Given the description of an element on the screen output the (x, y) to click on. 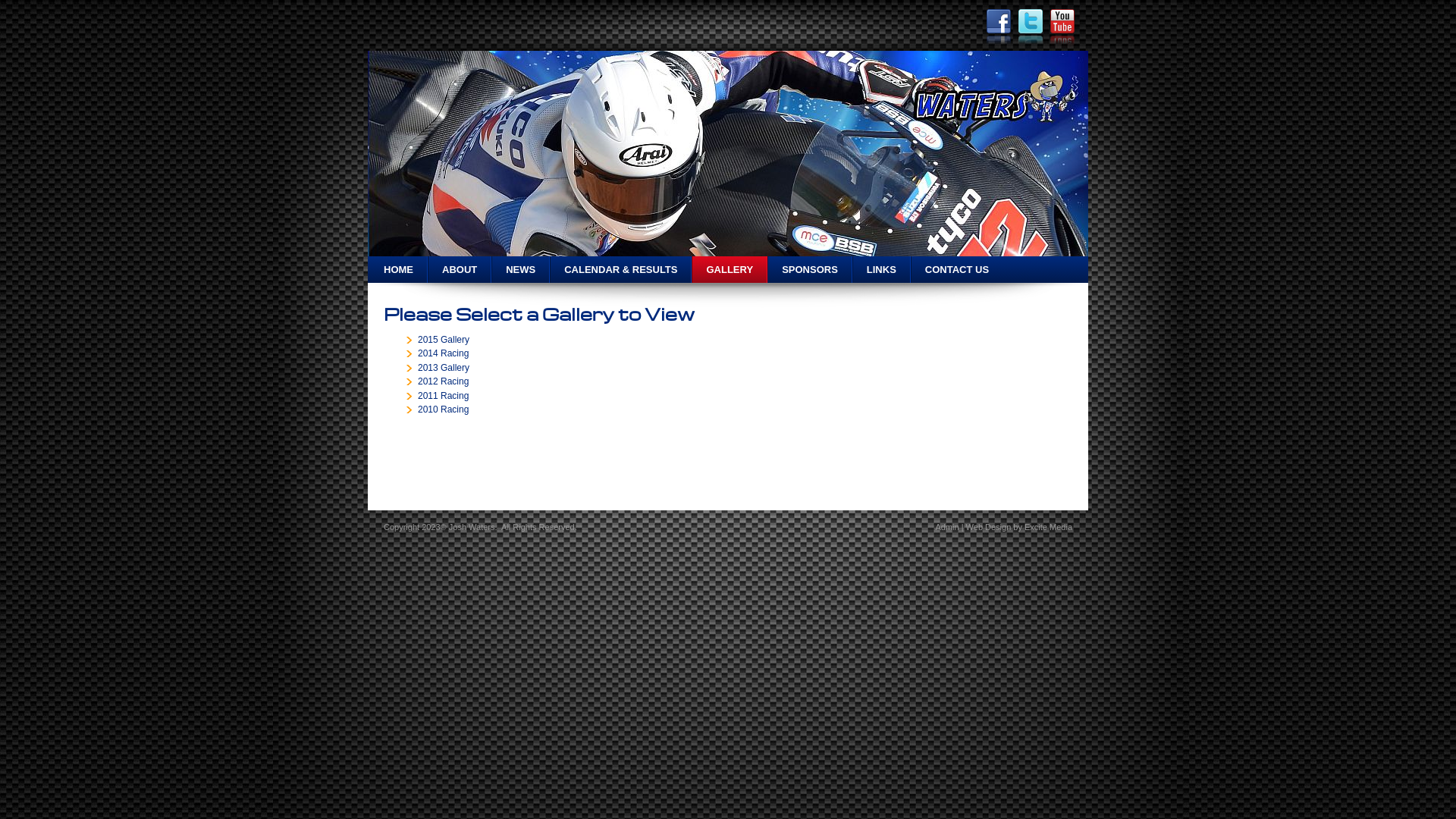
2011 Racing Element type: text (442, 395)
2014 Racing Element type: text (442, 353)
CALENDAR & RESULTS Element type: text (620, 269)
2013 Gallery Element type: text (443, 367)
NEWS Element type: text (520, 269)
HOME Element type: text (397, 269)
Web Design by Excite Media Element type: text (1019, 526)
2012 Racing Element type: text (442, 381)
2015 Gallery Element type: text (443, 339)
Admin Element type: text (946, 526)
LINKS Element type: text (881, 269)
CONTACT US Element type: text (956, 269)
SPONSORS Element type: text (809, 269)
2010 Racing Element type: text (442, 409)
ABOUT Element type: text (459, 269)
GALLERY Element type: text (729, 269)
